Given the description of an element on the screen output the (x, y) to click on. 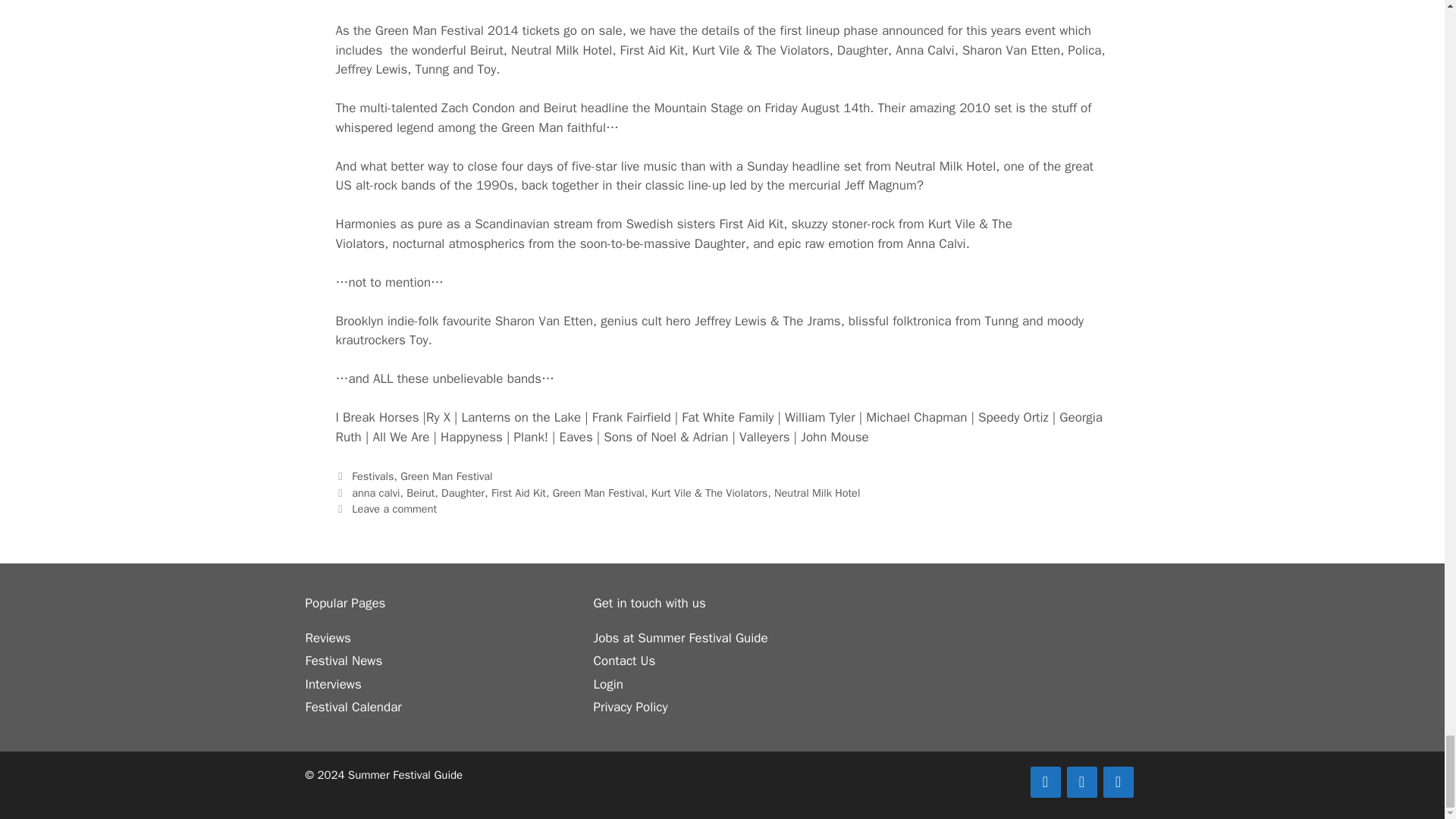
Facebook (1044, 781)
Twitter (1080, 781)
Instagram (1117, 781)
